Given the description of an element on the screen output the (x, y) to click on. 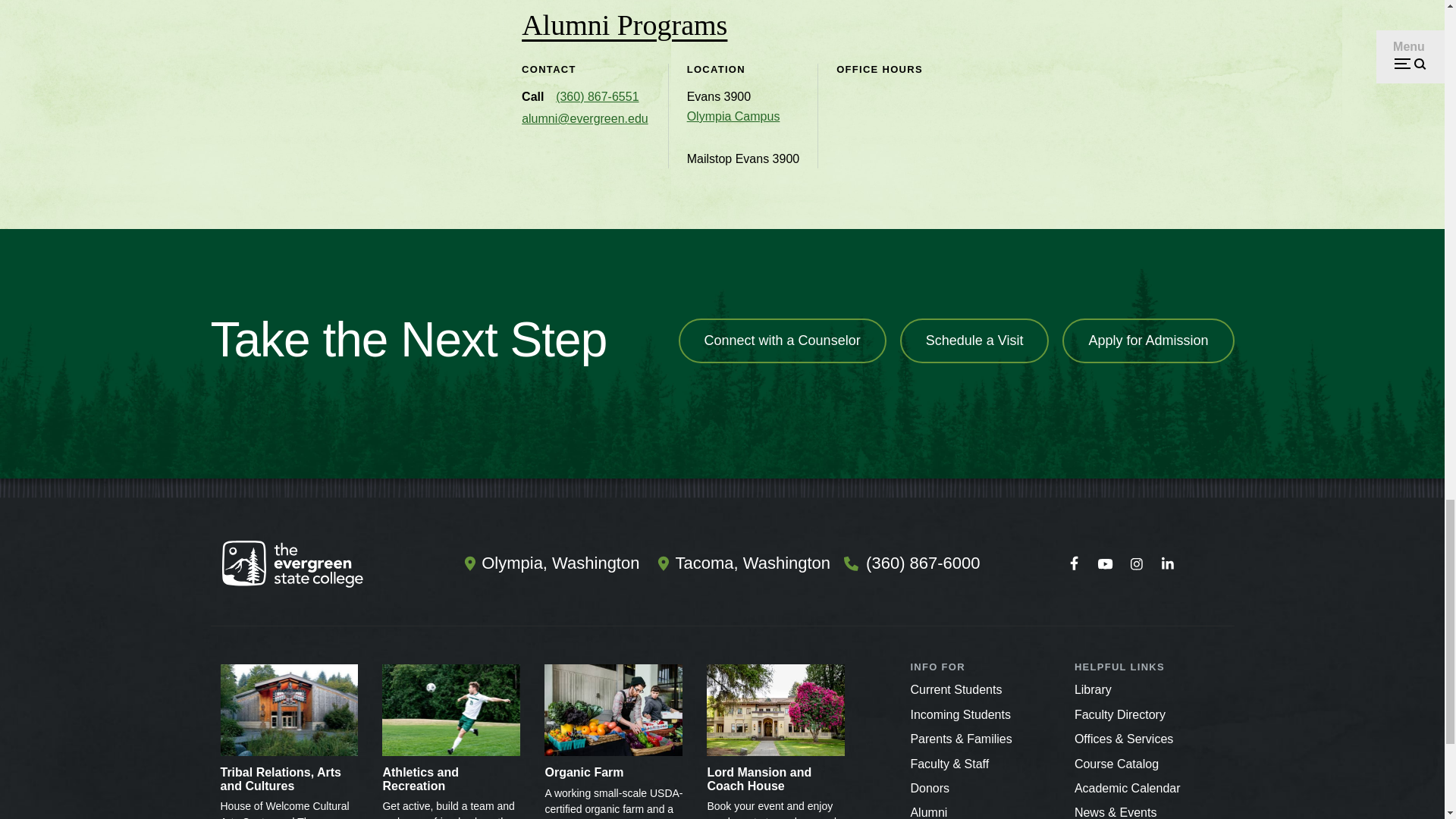
Follow us on Instagram (1136, 563)
Olympia Campus (733, 116)
Make a Gift (929, 788)
Connect with a Counselor (782, 340)
Connect with us on LinkedIn (1167, 563)
Schedule a Visit (974, 340)
Alumni Programs (638, 24)
Follow us on Facebook (1074, 563)
Watch us on Youtube (1105, 563)
